Given the description of an element on the screen output the (x, y) to click on. 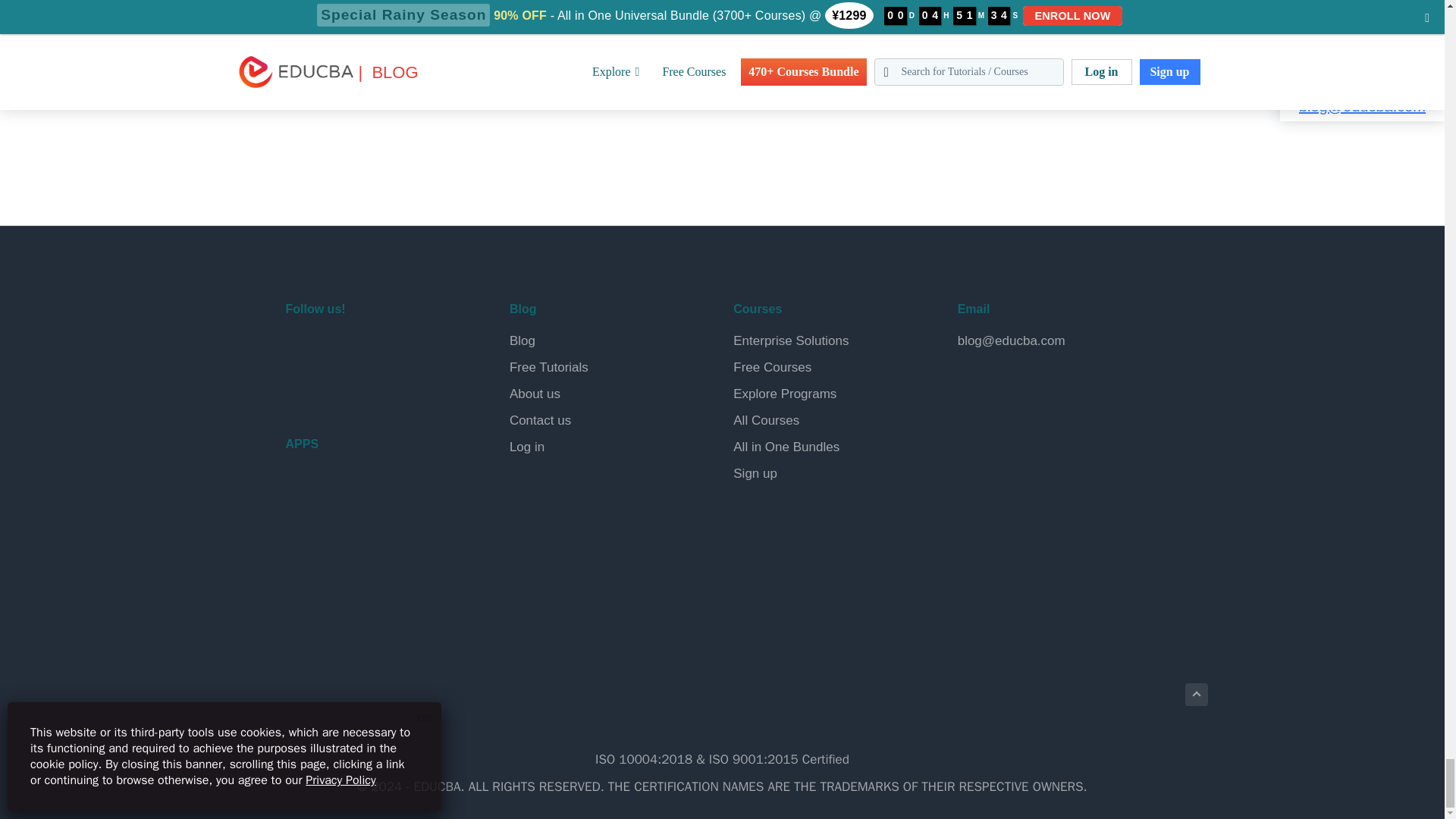
EDUCBA Youtube (300, 387)
EDUCBA Coursera (336, 387)
EDUCBA Facebook (300, 349)
EDUCBA Instagram (408, 349)
EDUCBA Twitter (336, 349)
EDUCBA LinkedIN (371, 349)
